Given the description of an element on the screen output the (x, y) to click on. 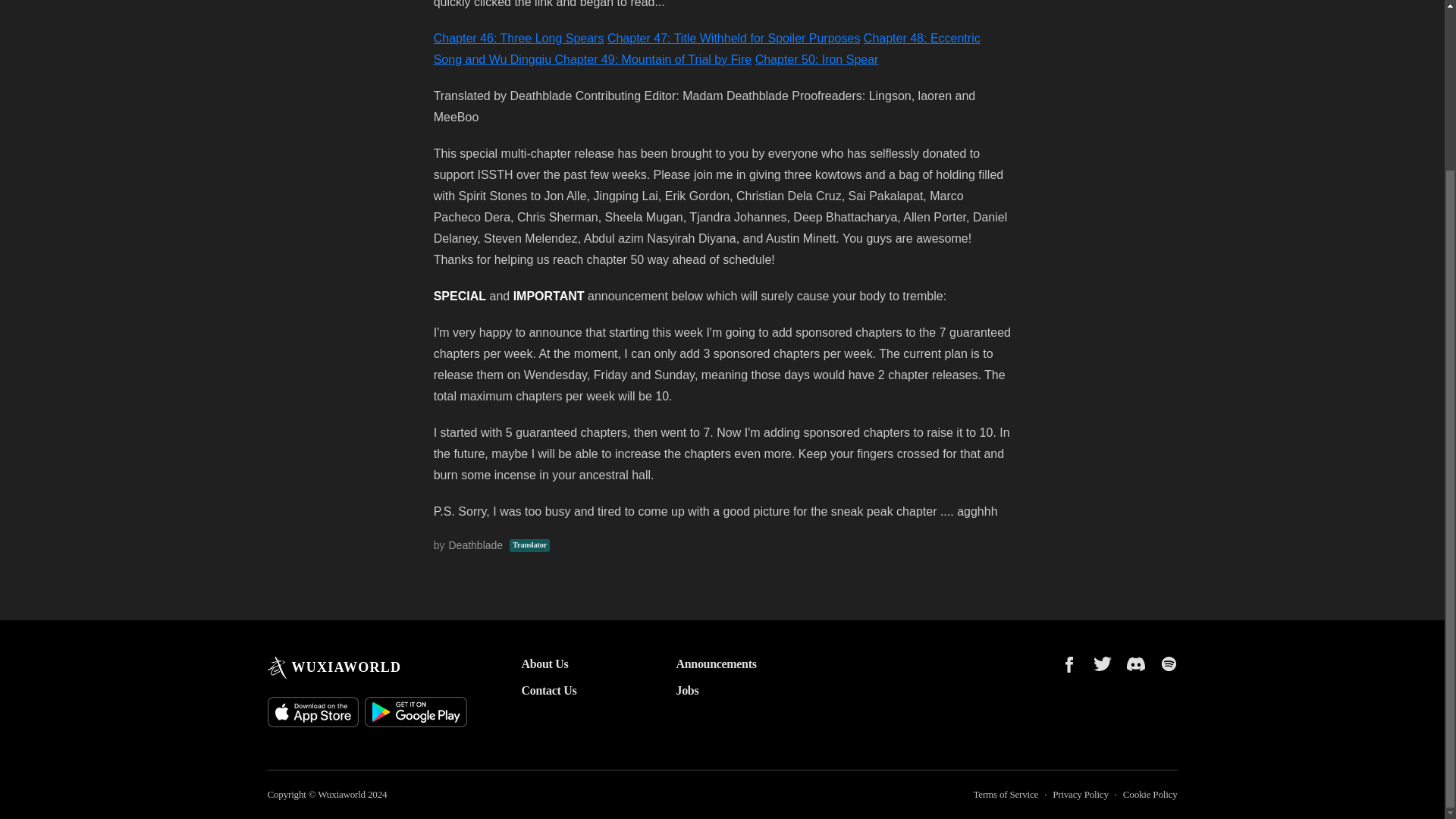
Chapter 50: Iron Spear (817, 59)
Chapter 47: Title Withheld for Spoiler Purposes (733, 38)
Wuxiaworld (341, 794)
About Us (574, 663)
Terms of Service (1005, 794)
WUXIAWORLD (333, 667)
Jobs (730, 690)
Announcements (730, 663)
Cookie Policy (1149, 794)
Chapter 46: Three Long Spears (518, 38)
